Given the description of an element on the screen output the (x, y) to click on. 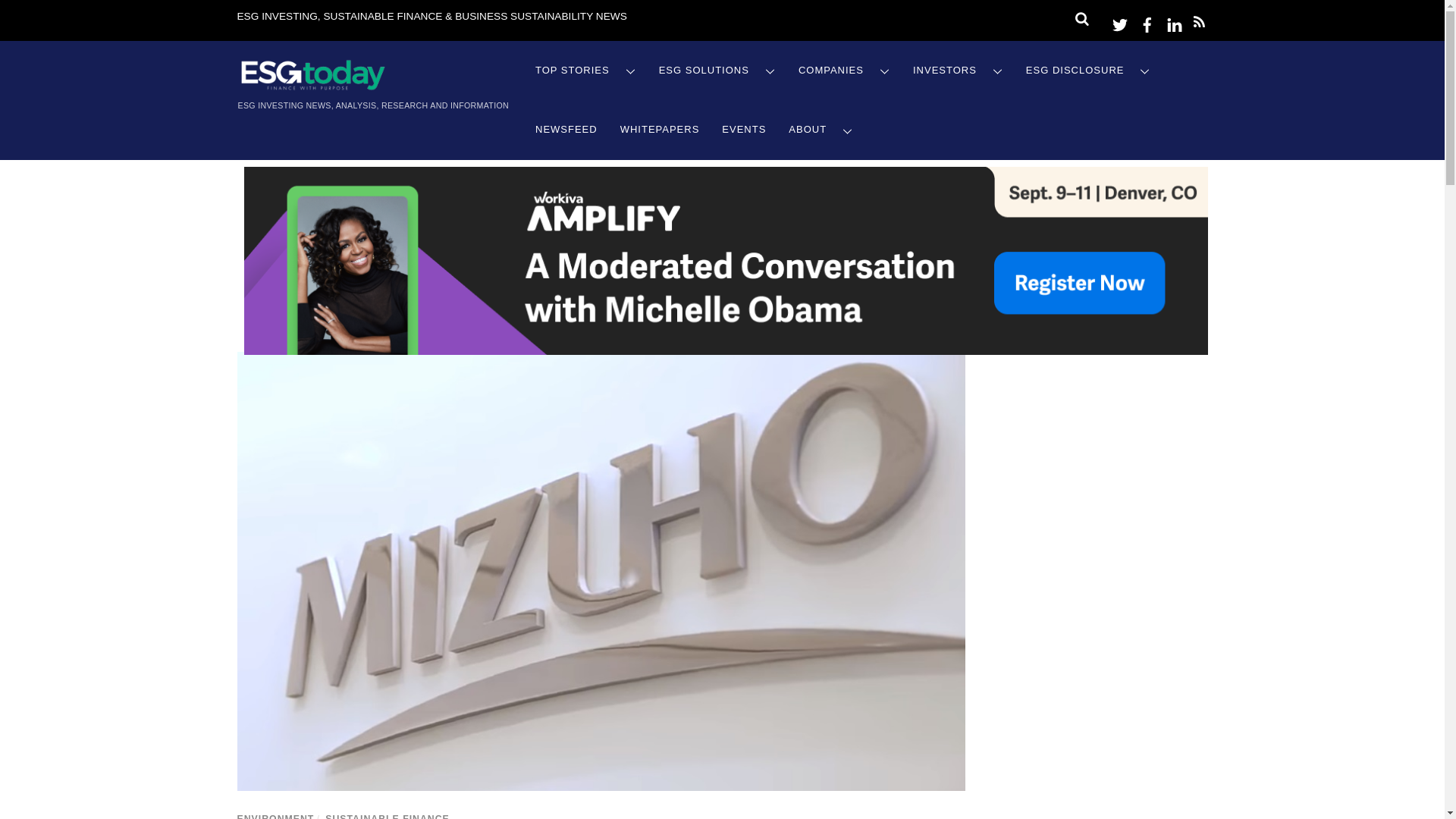
TOP STORIES (585, 70)
ESG SOLUTIONS (717, 70)
INVESTORS (957, 70)
COMPANIES (844, 70)
ESG Today (311, 86)
EVENTS (743, 129)
WHITEPAPERS (659, 129)
ABOUT (820, 129)
ESG DISCLOSURE (1087, 70)
NEWSFEED (566, 129)
